Given the description of an element on the screen output the (x, y) to click on. 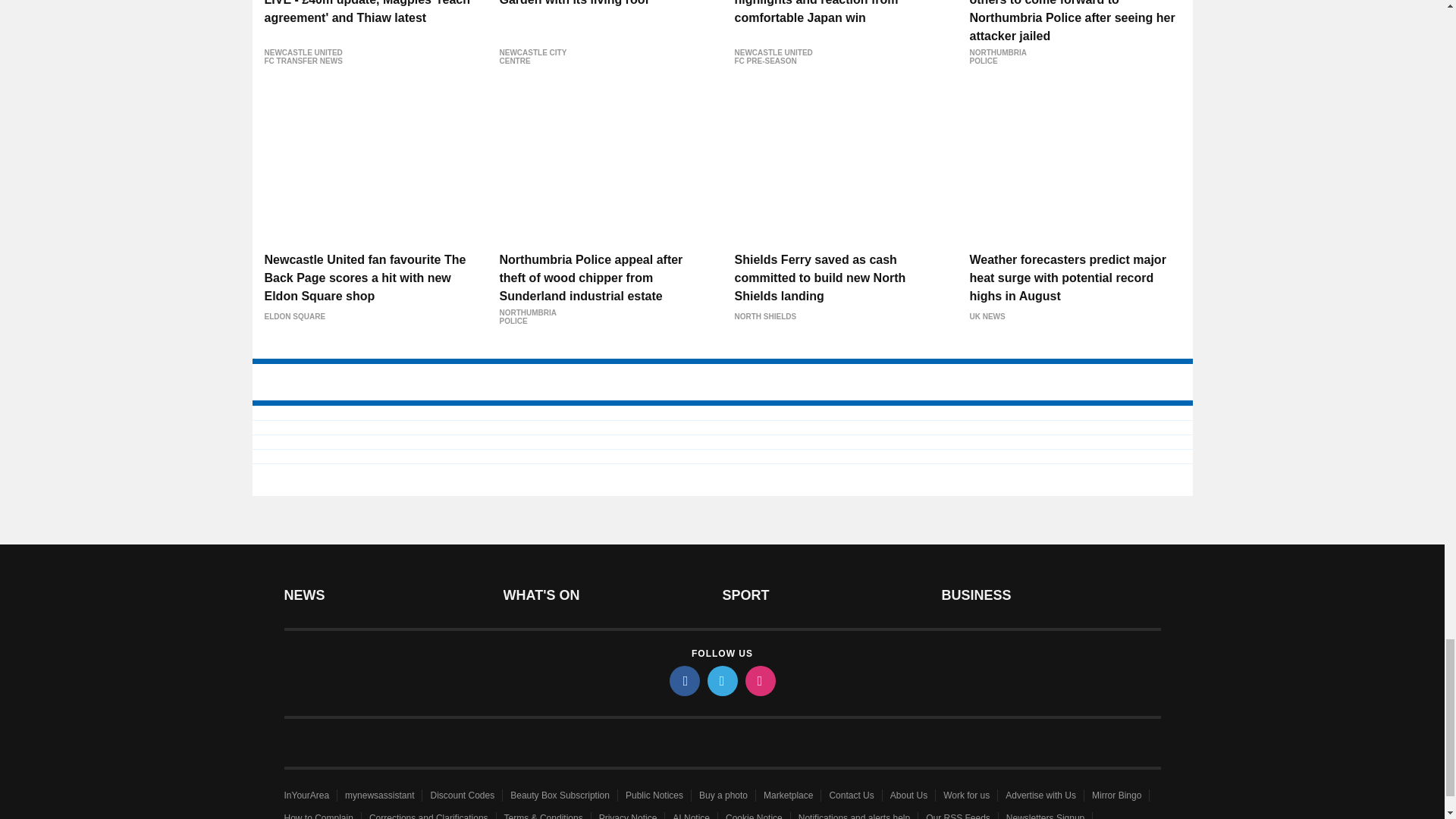
twitter (721, 680)
instagram (759, 680)
facebook (683, 680)
